Given the description of an element on the screen output the (x, y) to click on. 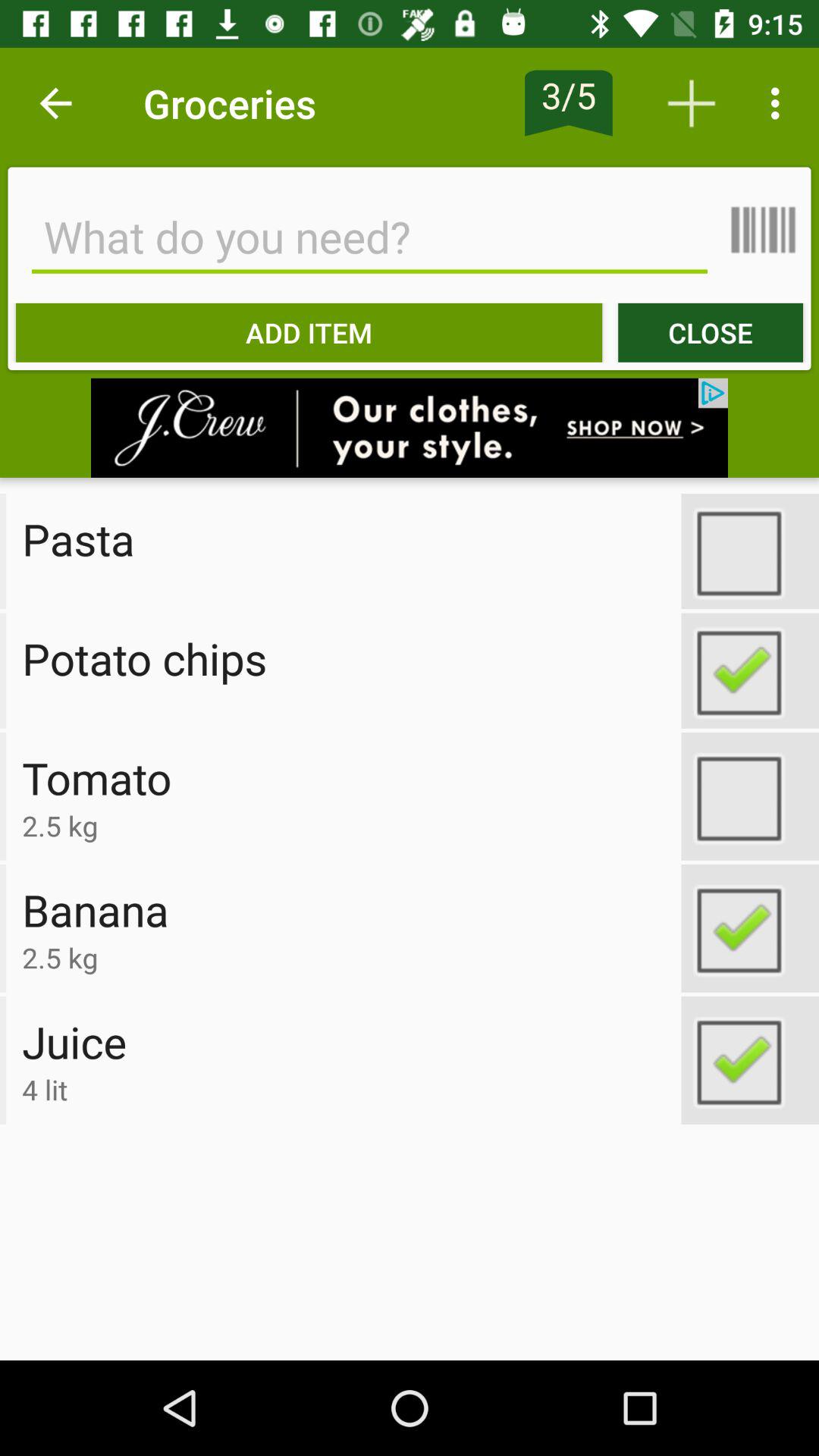
go to tick option (750, 796)
